Given the description of an element on the screen output the (x, y) to click on. 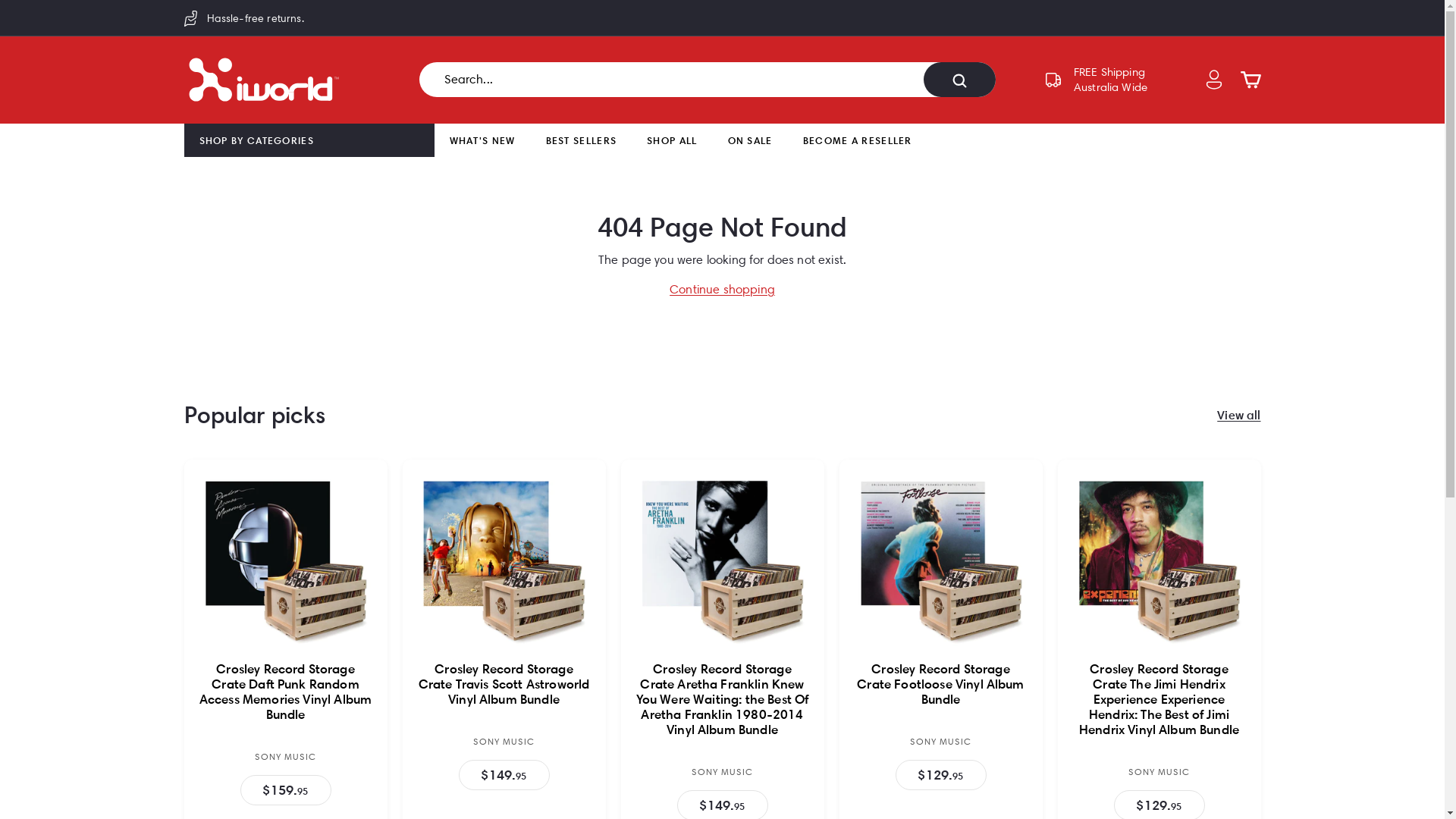
Skip to content Element type: text (0, 0)
SHOP BY CATEGORIES Element type: text (255, 140)
BEST SELLERS Element type: text (581, 140)
BECOME A RESELLER Element type: text (857, 140)
WHAT'S NEW Element type: text (481, 140)
FREE Shipping
Australia Wide Element type: text (1095, 79)
SHOP ALL Element type: text (671, 140)
Continue shopping Element type: text (722, 289)
View all Element type: text (1238, 414)
ON SALE Element type: text (749, 140)
